Given the description of an element on the screen output the (x, y) to click on. 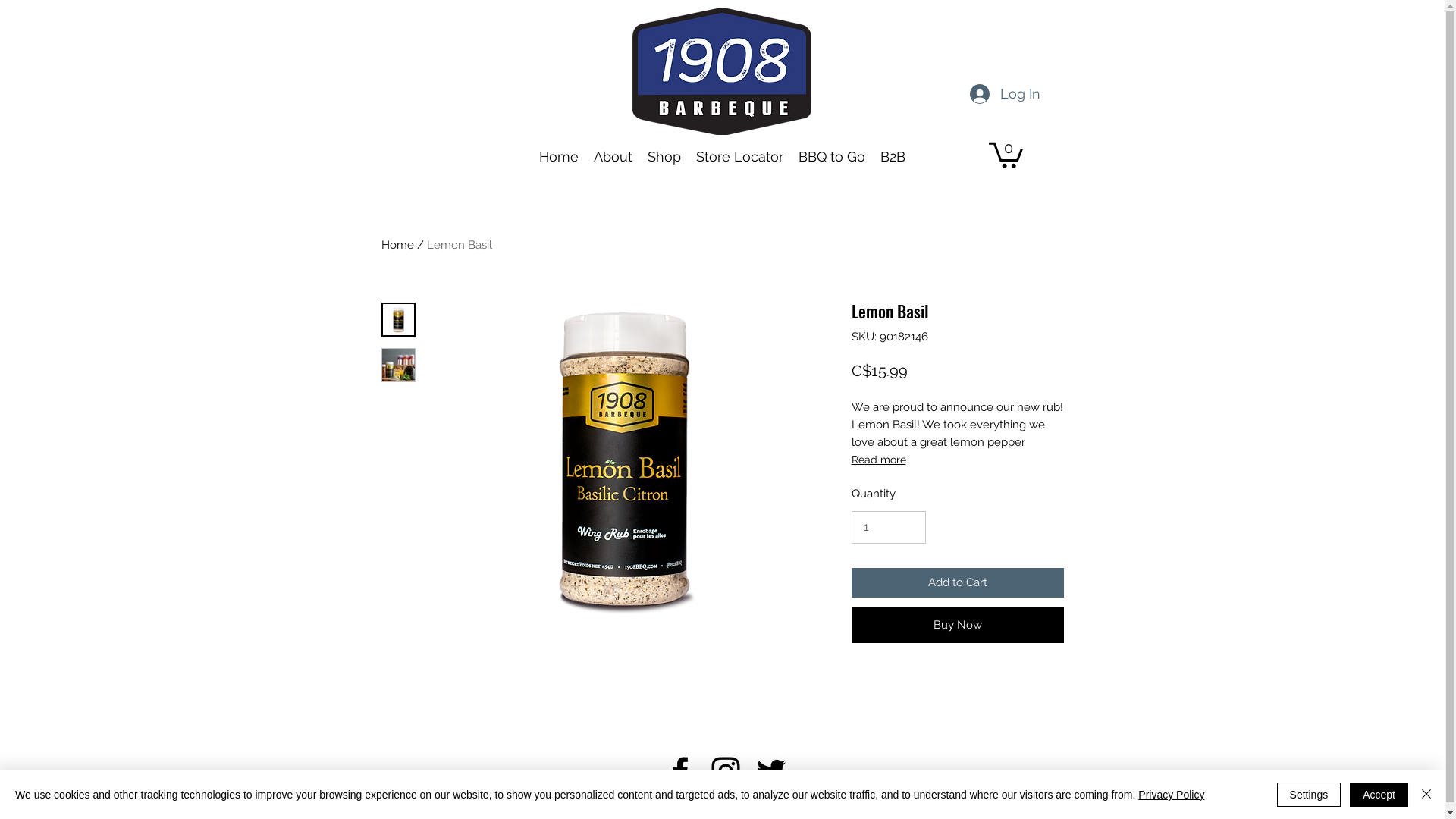
Accept Element type: text (1378, 794)
Lemon Basil Element type: text (458, 244)
Home Element type: text (558, 156)
Buy Now Element type: text (956, 624)
0 Element type: text (1005, 153)
Log In Element type: text (1003, 93)
Shop Element type: text (664, 156)
Privacy Policy Element type: text (1171, 794)
Read more Element type: text (956, 459)
BBQ to Go Element type: text (831, 156)
About Element type: text (613, 156)
Settings Element type: text (1309, 794)
Store Locator Element type: text (739, 156)
Home Element type: text (396, 244)
Add to Cart Element type: text (956, 582)
B2B Element type: text (892, 156)
